Given the description of an element on the screen output the (x, y) to click on. 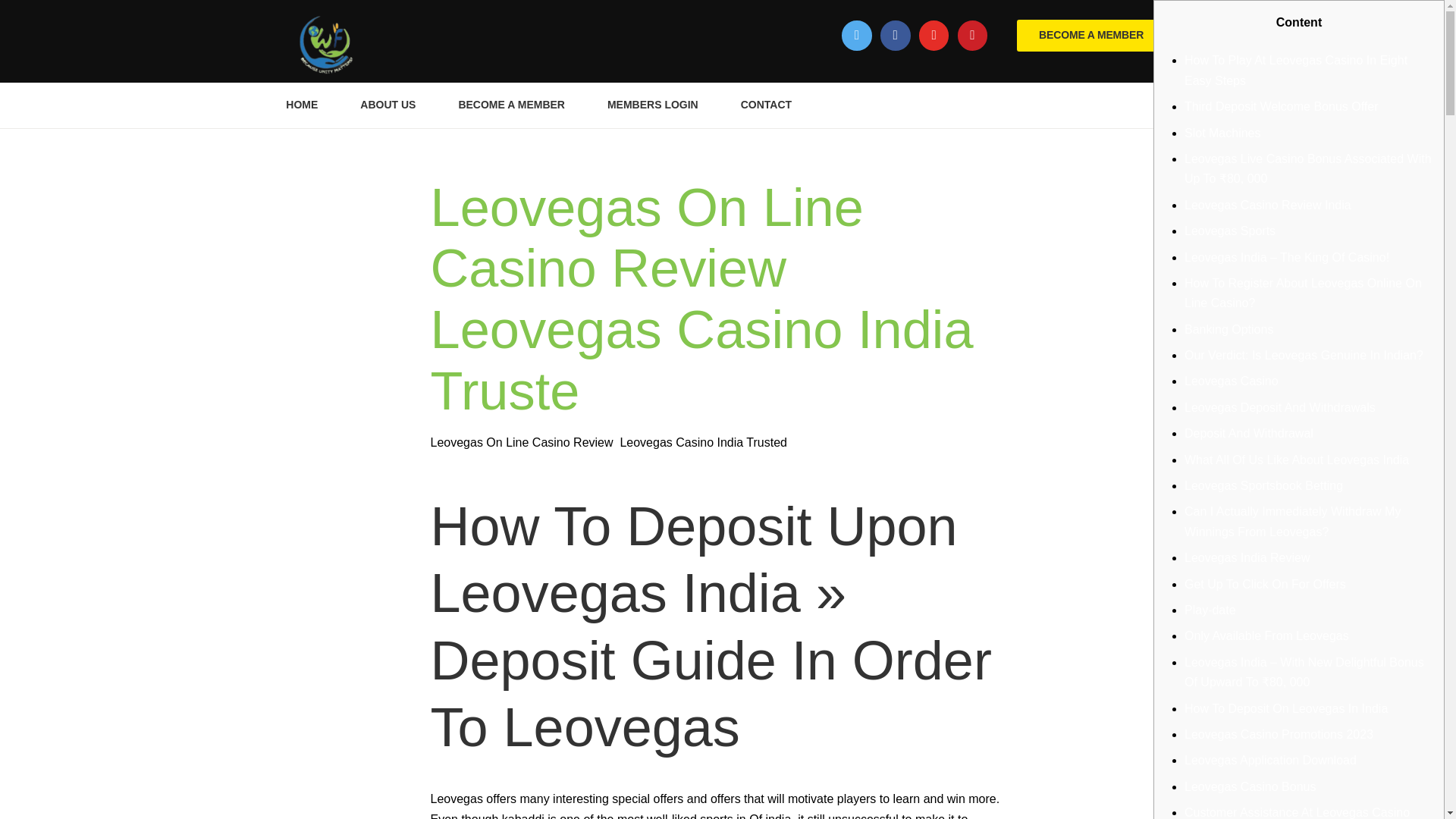
Leovegas Sports (1230, 230)
Deposit And Withdrawal (1249, 432)
Get Up To Click On For Offers (1265, 584)
Banking Options (1228, 328)
What All Of Us Like About Leovegas India (1297, 459)
How To Register About Leovegas Online On Line Casino? (1303, 292)
How To Play At Leovegas Casino In Eight Easy Steps (1296, 70)
Leovegas Sportsbook Betting (1263, 485)
Leovegas Casino Review India (1268, 205)
Leovegas Deposit And Withdrawals (1280, 407)
Leovegas India Review (1246, 557)
BECOME A MEMBER (1091, 34)
Slot Machines (1222, 132)
Leovegas Casino (1231, 380)
